Given the description of an element on the screen output the (x, y) to click on. 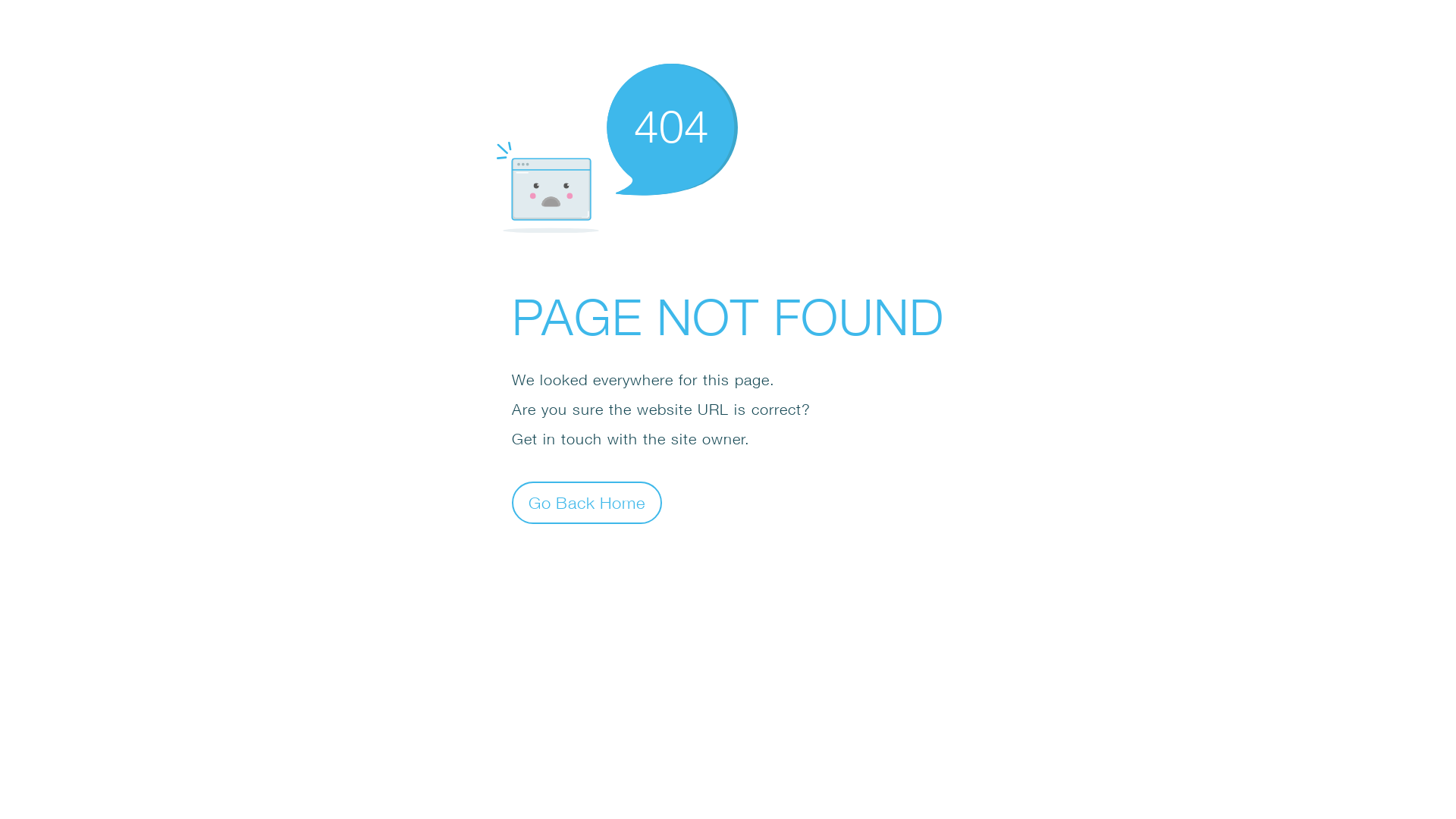
Go Back Home Element type: text (586, 502)
